Given the description of an element on the screen output the (x, y) to click on. 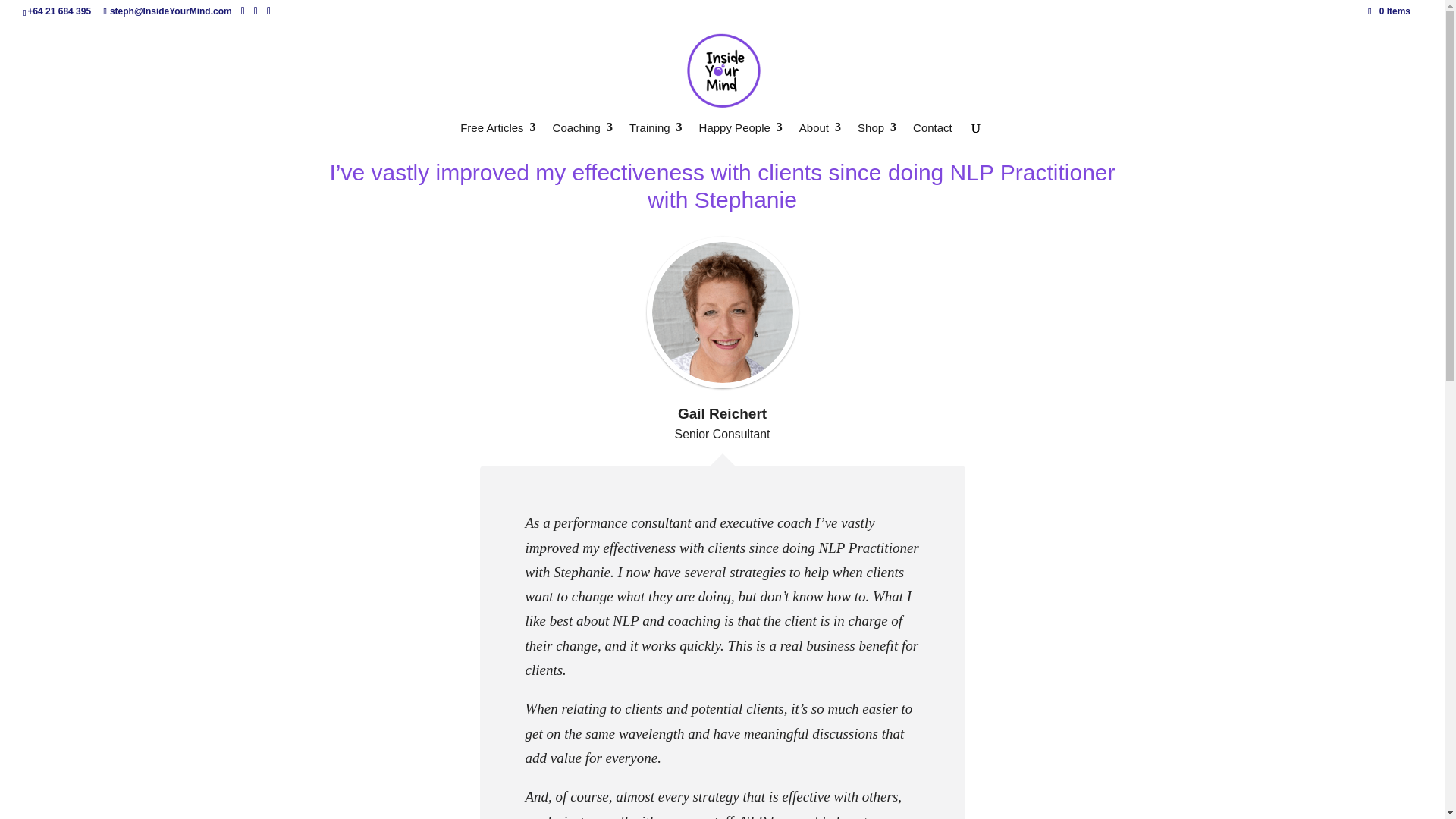
0 Items (1389, 10)
Contact (932, 137)
Coaching (582, 137)
Shop (876, 137)
Free Articles (497, 137)
Training (655, 137)
Happy People (740, 137)
About (820, 137)
